Given the description of an element on the screen output the (x, y) to click on. 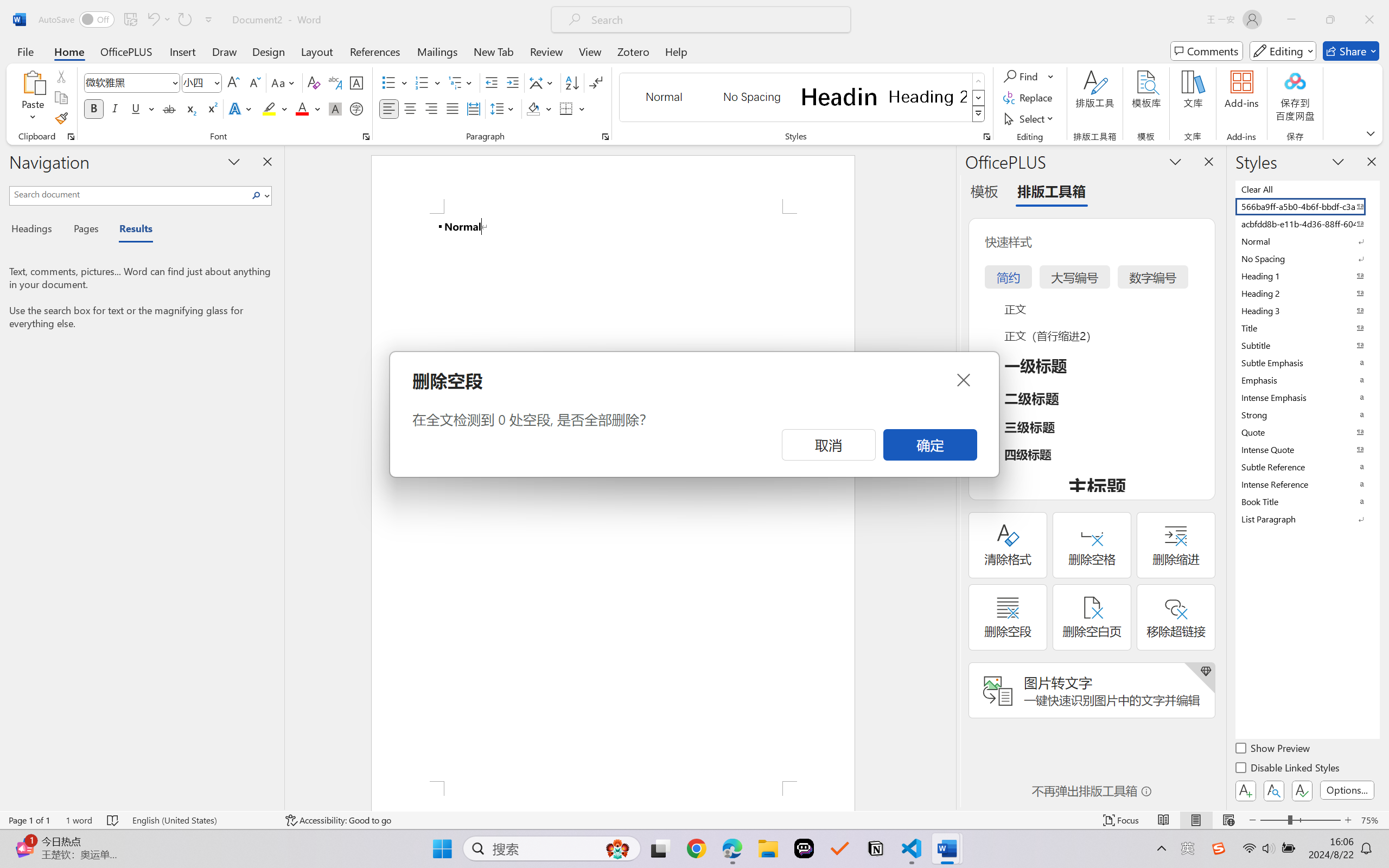
Numbering (421, 82)
Class: MsoCommandBar (694, 819)
Heading 3 (1306, 310)
Mode (1283, 50)
Asian Layout (542, 82)
Font Color (308, 108)
Draw (224, 51)
Styles (978, 113)
Zoom Out (1273, 819)
Emphasis (1306, 379)
Accessibility Checker Accessibility: Good to go (338, 819)
